Given the description of an element on the screen output the (x, y) to click on. 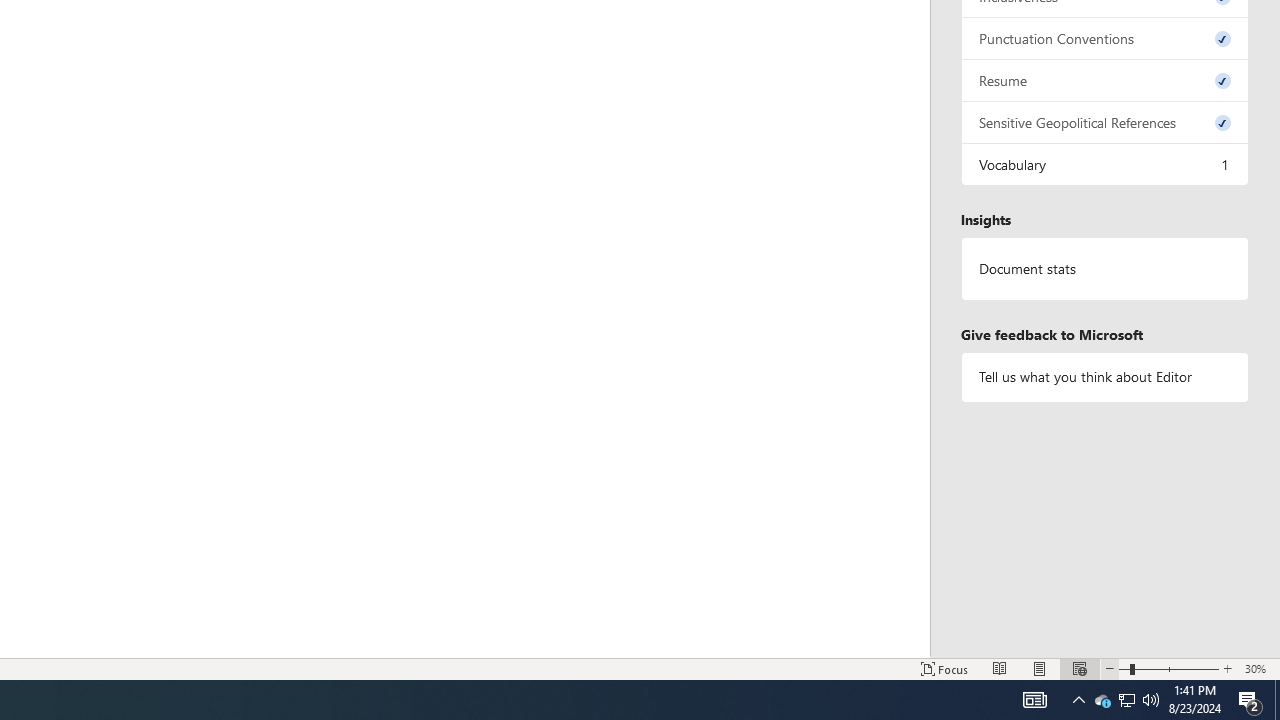
Vocabulary, 1 issue. Press space or enter to review items. (1105, 164)
Zoom 30% (1258, 668)
Document statistics (1105, 269)
Zoom Out (1124, 668)
Focus  (944, 668)
Read Mode (1000, 668)
Web Layout (1079, 668)
Print Layout (1039, 668)
Resume, 0 issues. Press space or enter to review items. (1105, 79)
Zoom (1168, 668)
Tell us what you think about Editor (1105, 376)
Zoom In (1227, 668)
